Given the description of an element on the screen output the (x, y) to click on. 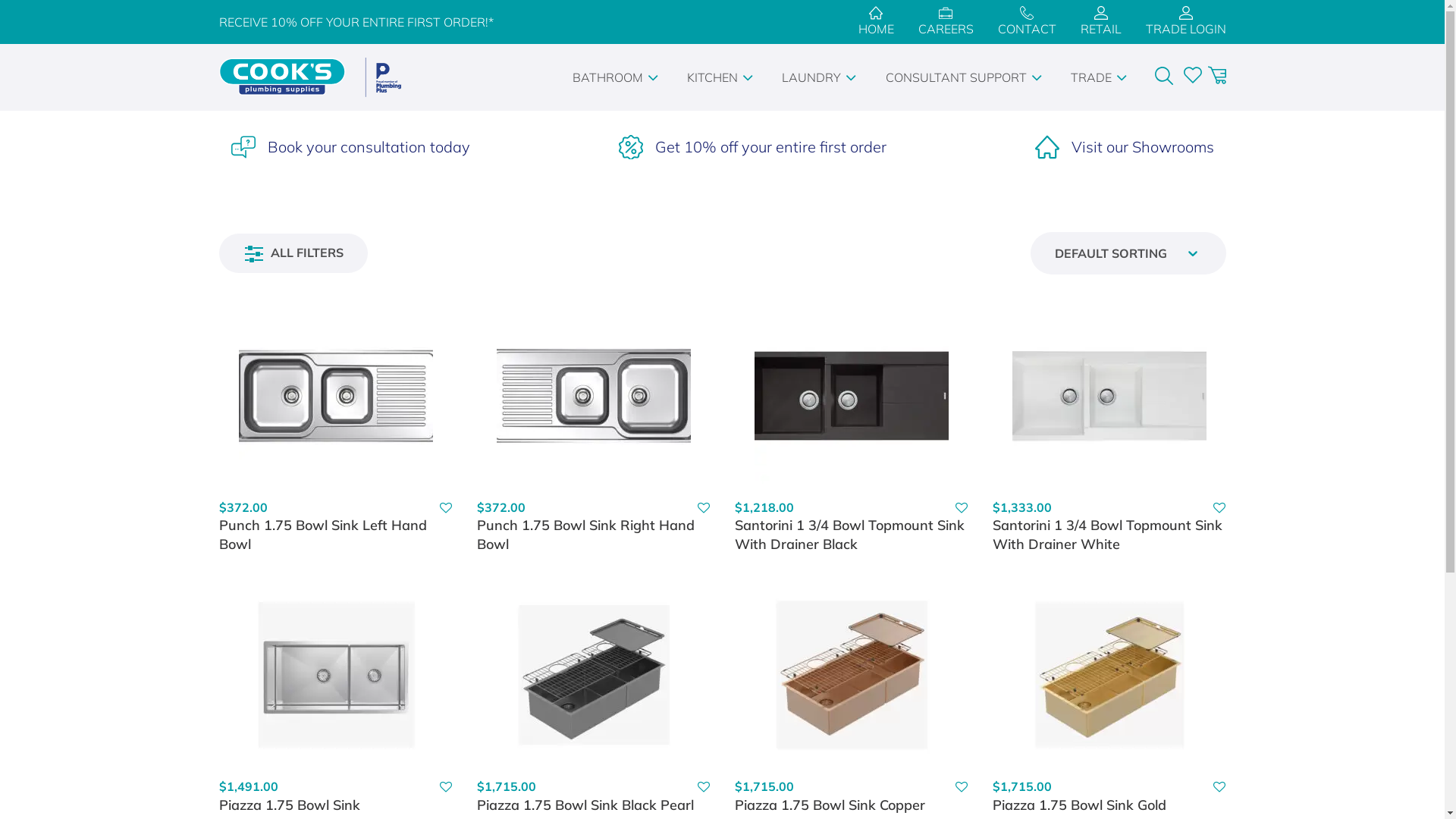
CONSULTANT SUPPORT Element type: text (965, 76)
ALL FILTERS Element type: text (292, 253)
Get 10% off your entire first order Element type: text (752, 146)
HOME Element type: text (876, 21)
TRADE Element type: text (1100, 76)
$1,715.00 Element type: text (1021, 786)
CAREERS Element type: text (944, 21)
Book your consultation today Element type: text (349, 146)
CONTACT Element type: text (1026, 21)
$1,491.00 Element type: text (247, 786)
LAUNDRY Element type: text (820, 76)
TRADE LOGIN Element type: text (1185, 21)
Go to Cart Element type: hover (1216, 76)
BATHROOM Element type: text (617, 76)
$1,715.00 Element type: text (763, 786)
$1,715.00 Element type: text (505, 786)
Visit our Showrooms Element type: text (1123, 146)
Search Element type: text (25, 9)
$372.00 Element type: text (242, 506)
$1,218.00 Element type: text (763, 506)
KITCHEN Element type: text (721, 76)
$372.00 Element type: text (500, 506)
$1,333.00 Element type: text (1021, 506)
RETAIL Element type: text (1099, 21)
